Given the description of an element on the screen output the (x, y) to click on. 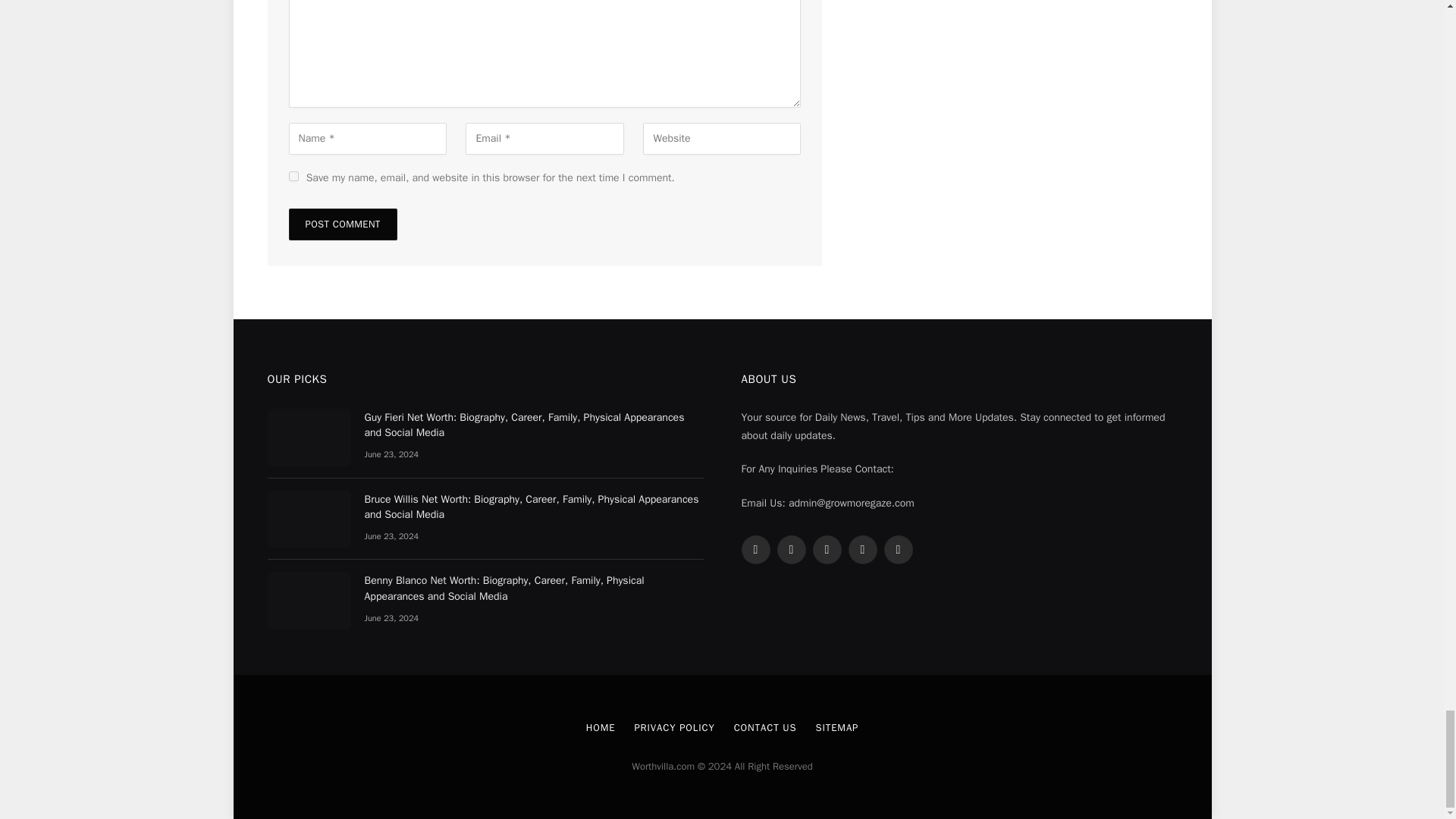
Post Comment (342, 224)
yes (293, 175)
